Given the description of an element on the screen output the (x, y) to click on. 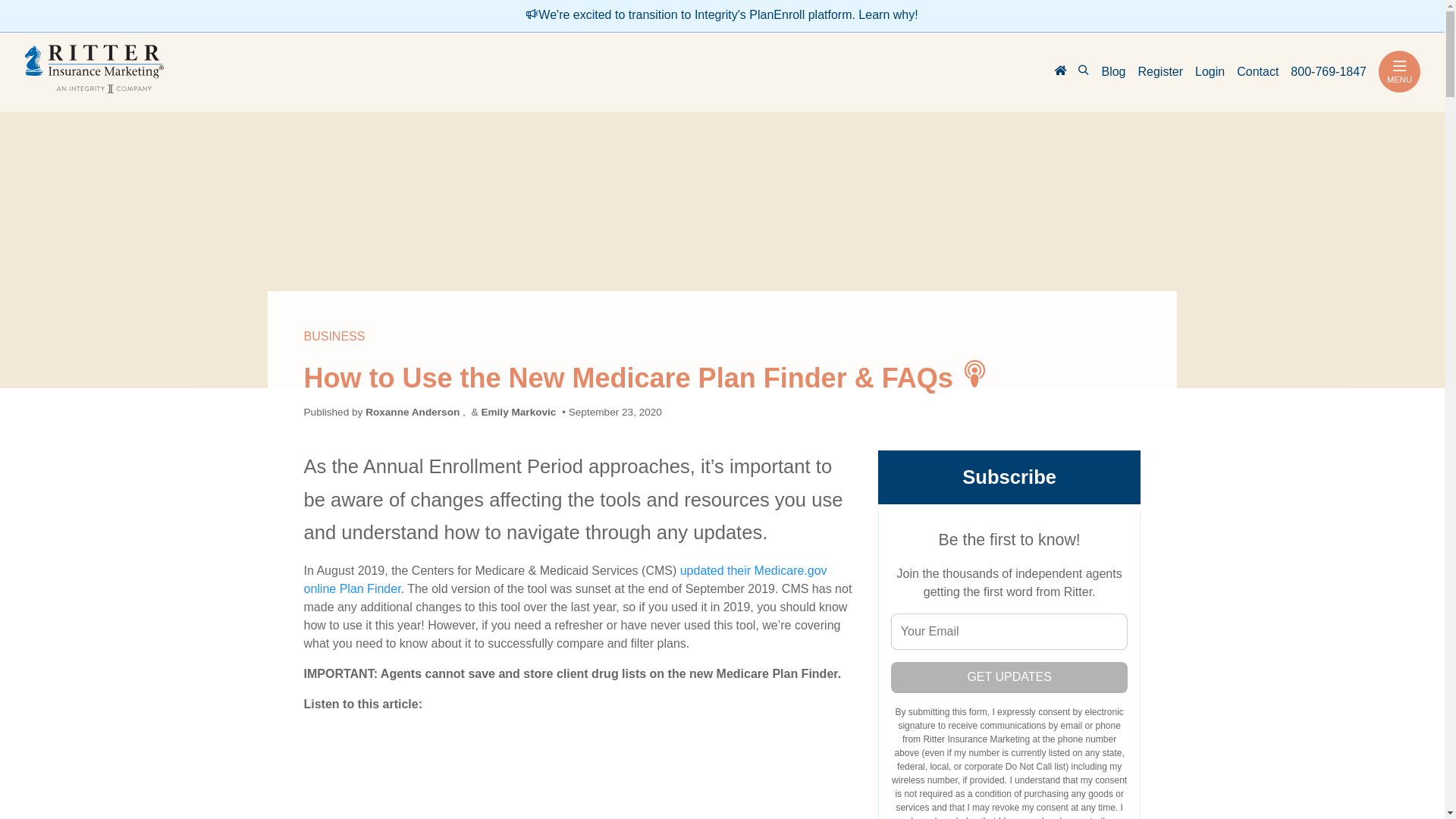
Login (1209, 72)
MENU (1399, 71)
How to Use the New Medicare Plan Finder (577, 771)
800-769-1847 (1328, 72)
Blog (1112, 72)
BUSINESS (333, 336)
Contact (1257, 72)
GET UPDATES (1009, 676)
